Given the description of an element on the screen output the (x, y) to click on. 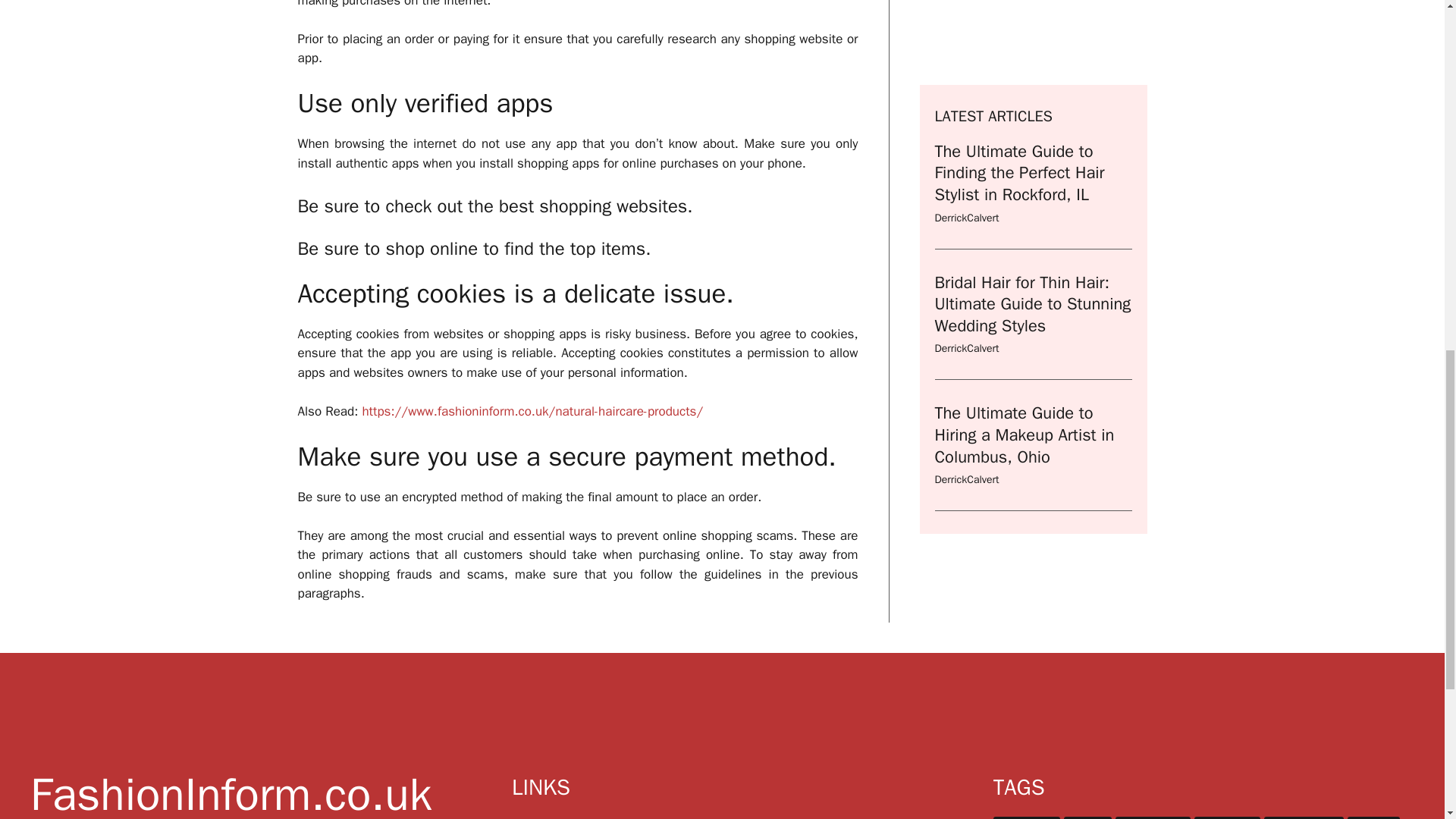
Celebrity Hair (1303, 817)
Bridal Hair (1226, 817)
Clothes (1373, 817)
Activewear (1025, 817)
Birthday Gift (1152, 817)
About US (585, 818)
Beauty (1088, 817)
